Given the description of an element on the screen output the (x, y) to click on. 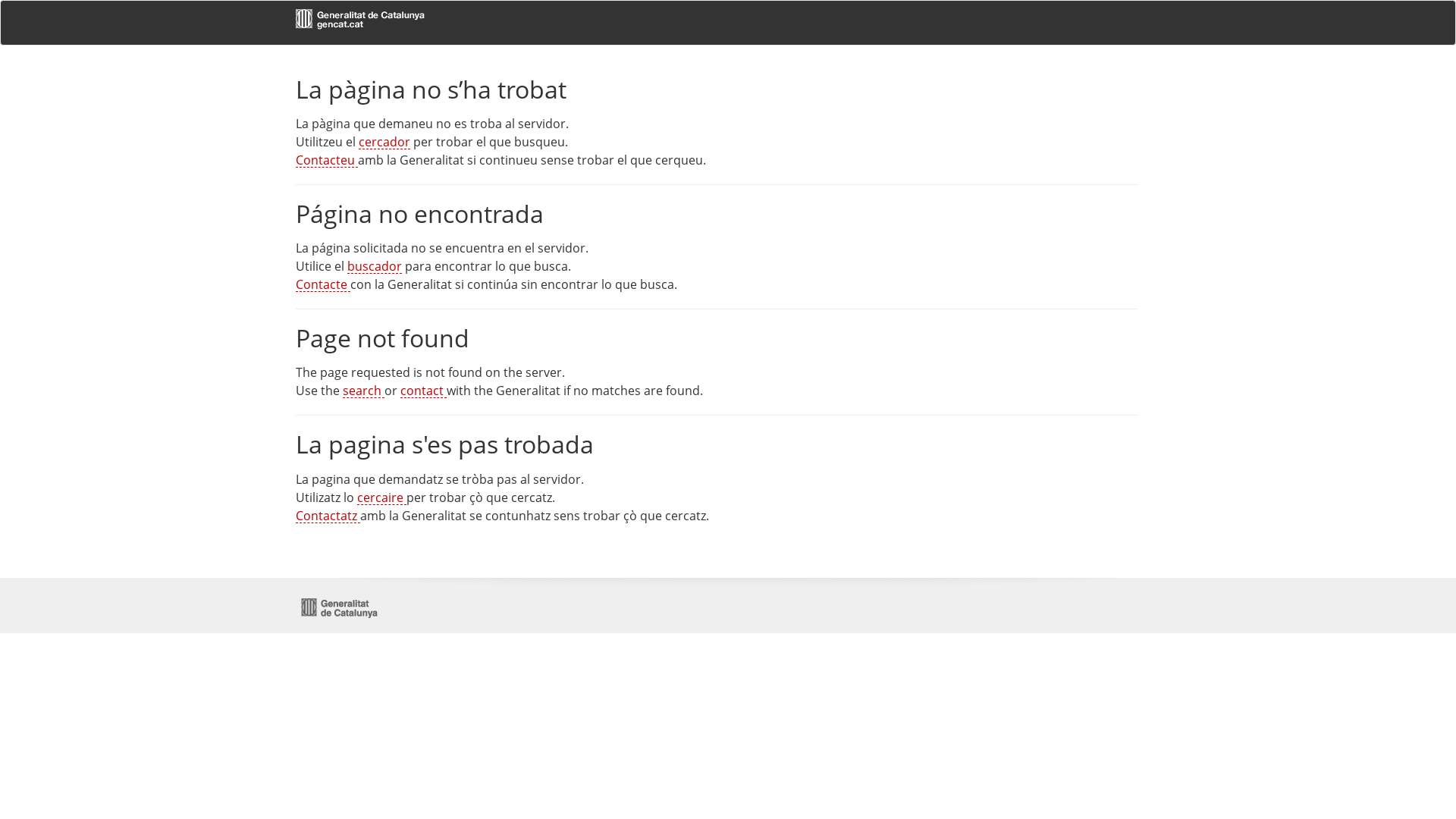
Contactatz Element type: text (327, 515)
search Element type: text (363, 390)
gencat.cat Element type: text (395, 21)
buscador Element type: text (374, 265)
Contacteu Element type: text (326, 159)
cercaire Element type: text (381, 497)
cercador Element type: text (384, 141)
Contacte Element type: text (322, 284)
contact Element type: text (423, 390)
